Given the description of an element on the screen output the (x, y) to click on. 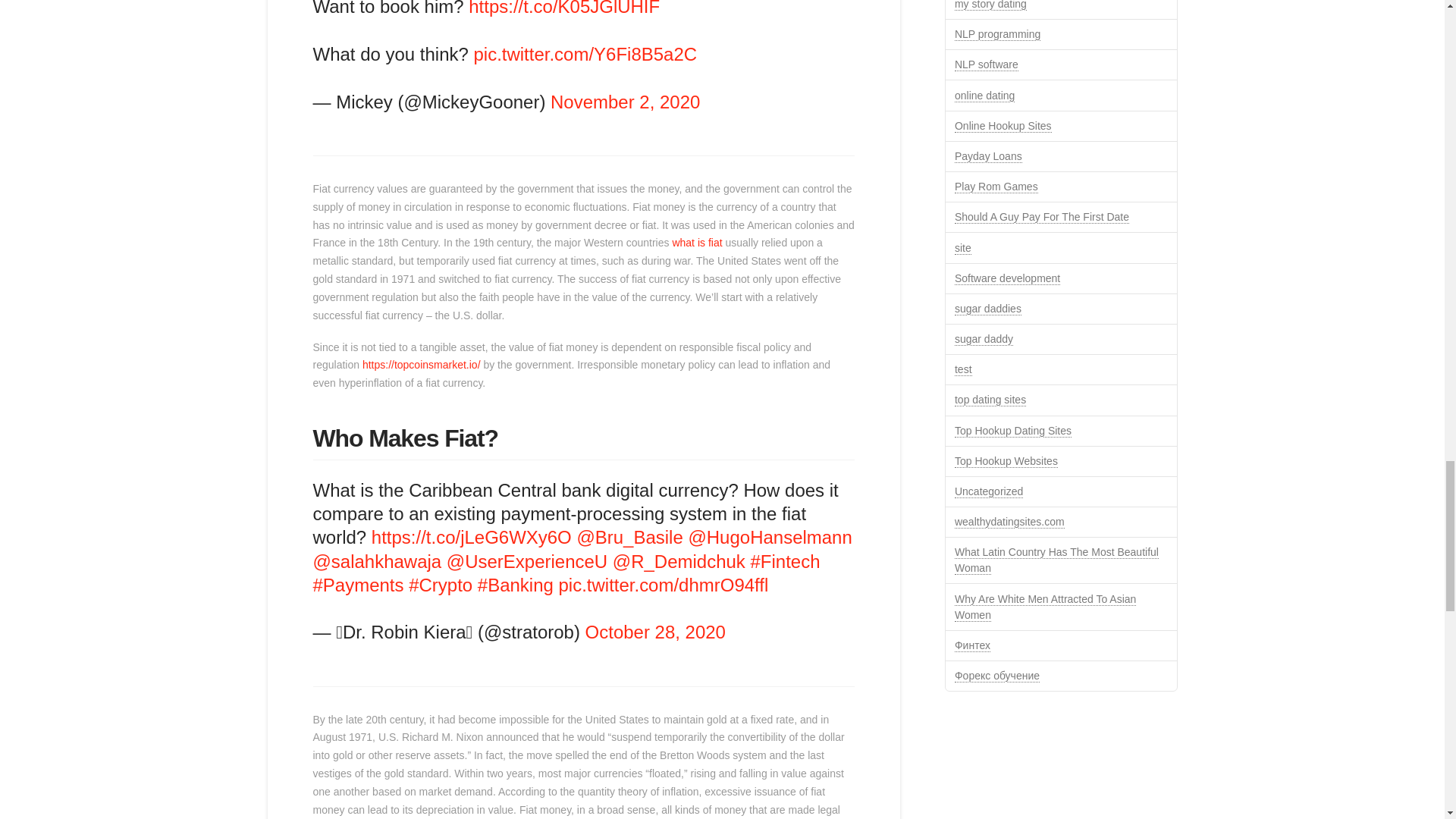
what is fiat (696, 242)
November 2, 2020 (625, 101)
October 28, 2020 (655, 631)
